Given the description of an element on the screen output the (x, y) to click on. 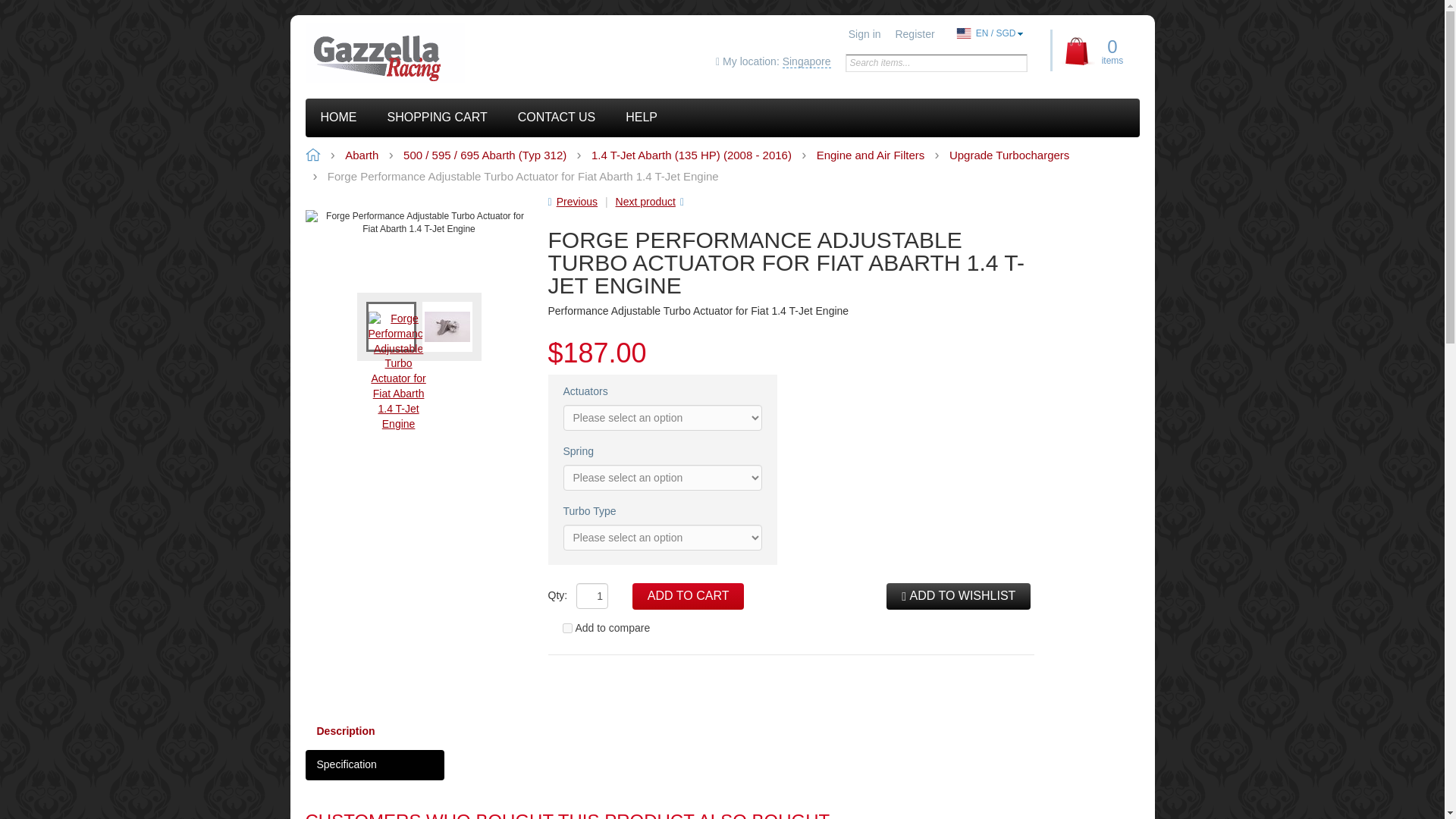
Sign in (864, 33)
My location: Singapore (772, 62)
Home (408, 52)
1 (592, 596)
Your cart (1096, 50)
Register (914, 33)
on (567, 628)
Quantity (592, 596)
